Given the description of an element on the screen output the (x, y) to click on. 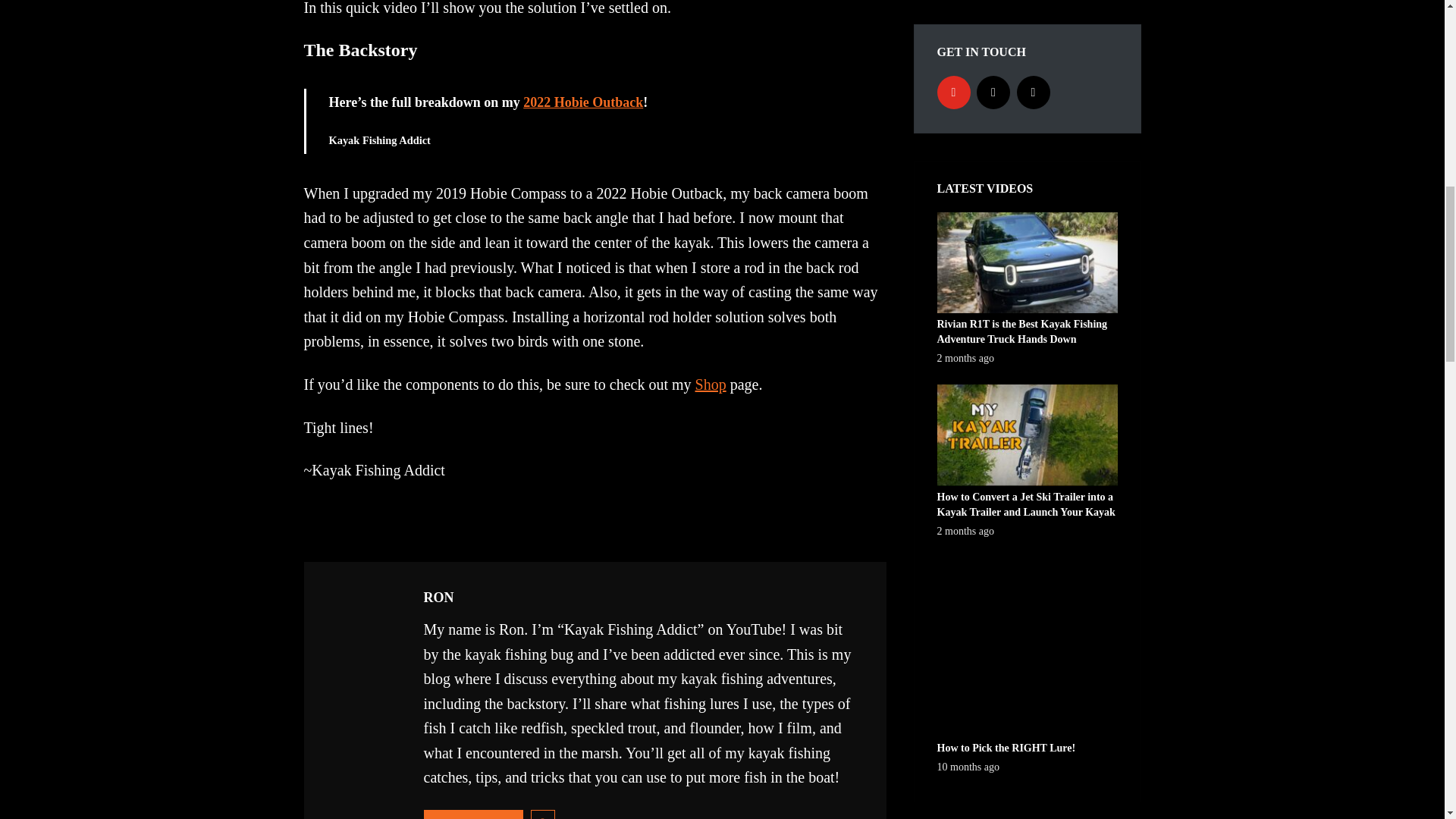
Mail (1032, 92)
Instagram (993, 92)
YouTube (954, 92)
Shop (710, 384)
How to Pick the RIGHT Lure! (1027, 646)
